Given the description of an element on the screen output the (x, y) to click on. 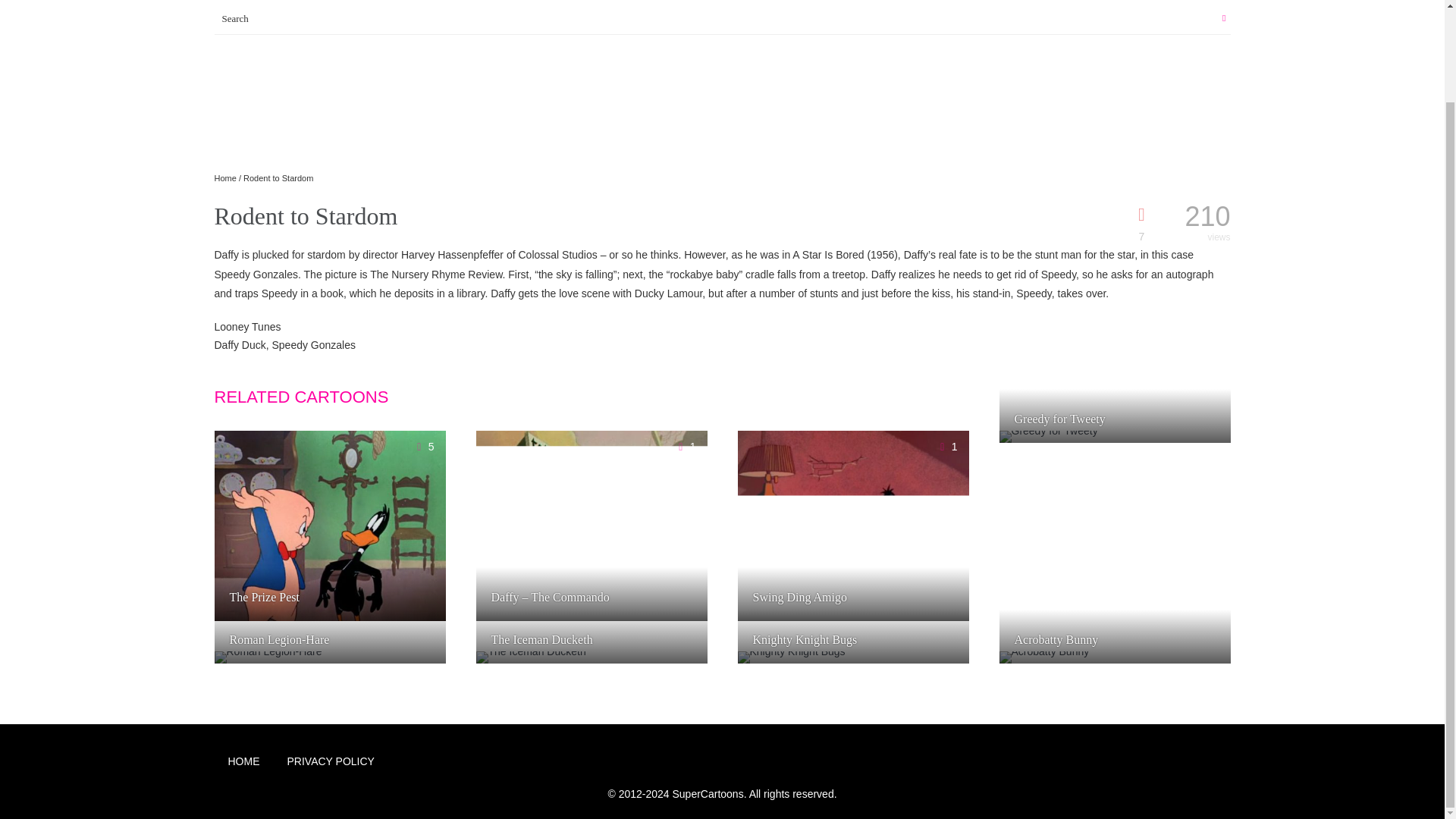
Speedy Gonzales (312, 345)
Roman Legion-Hare (293, 639)
The Prize Pest (278, 597)
8 (1208, 446)
1 (946, 446)
HOME (243, 2)
5 (422, 666)
The Iceman Ducketh (557, 639)
9 (946, 666)
Like this (1208, 446)
